Given the description of an element on the screen output the (x, y) to click on. 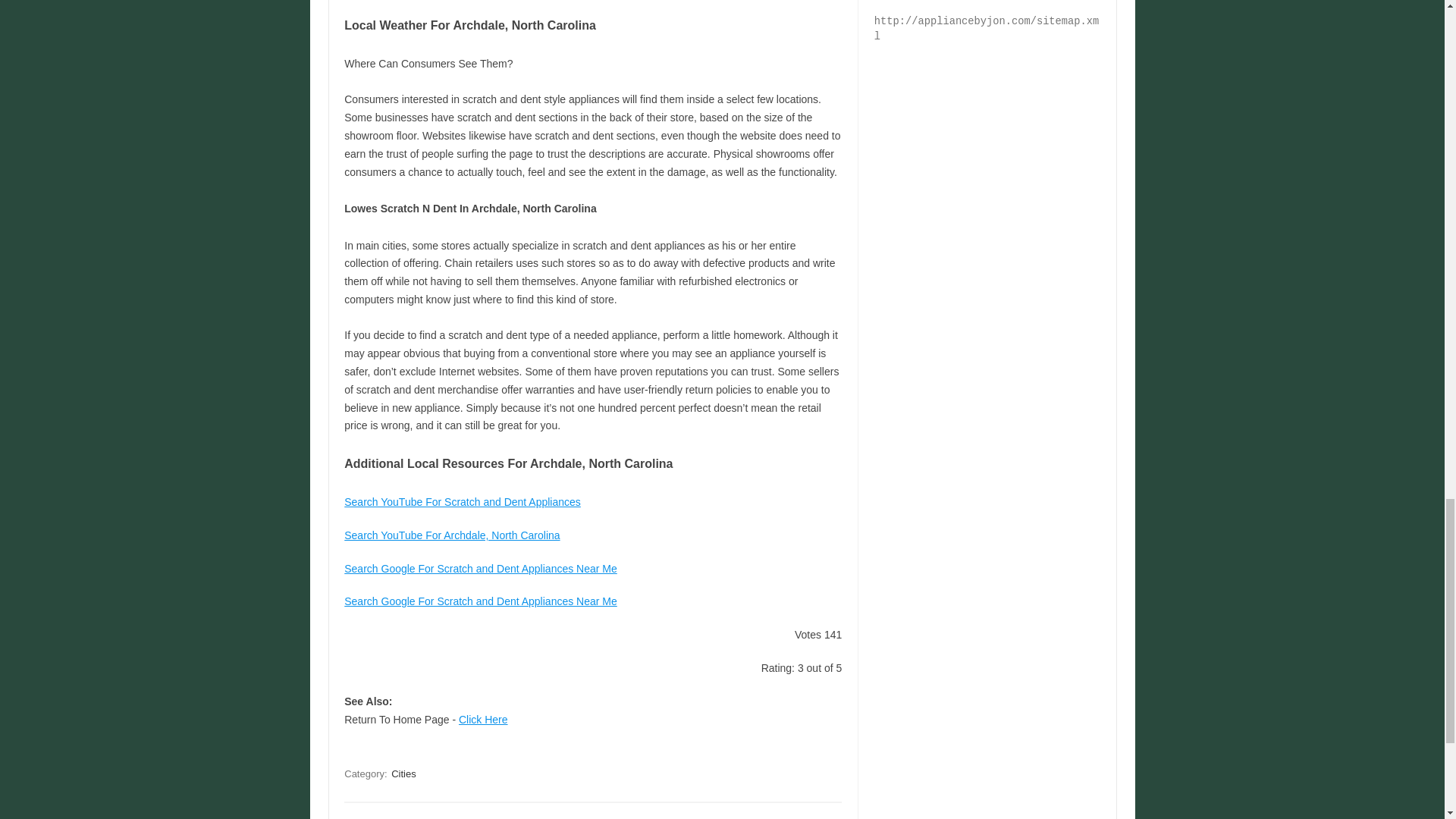
Search Google For Scratch and Dent Appliances Near Me (480, 568)
Click Here (483, 719)
Search YouTube For Archdale, North Carolina (451, 535)
Cities (403, 773)
Search Google For Scratch and Dent Appliances Near Me (480, 601)
Search YouTube For Scratch and Dent Appliances (461, 501)
